Given the description of an element on the screen output the (x, y) to click on. 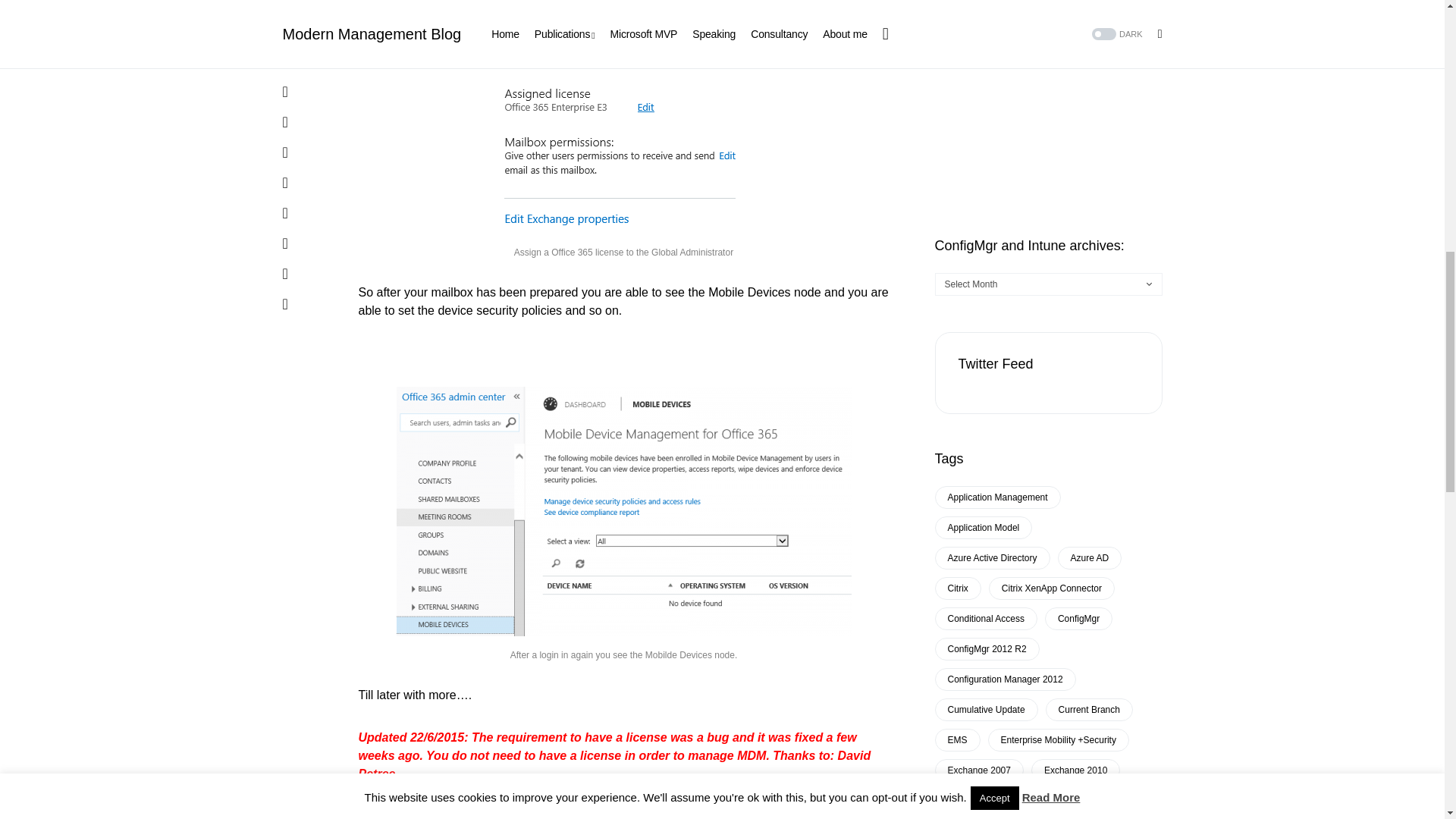
Advertisement (1047, 28)
